Given the description of an element on the screen output the (x, y) to click on. 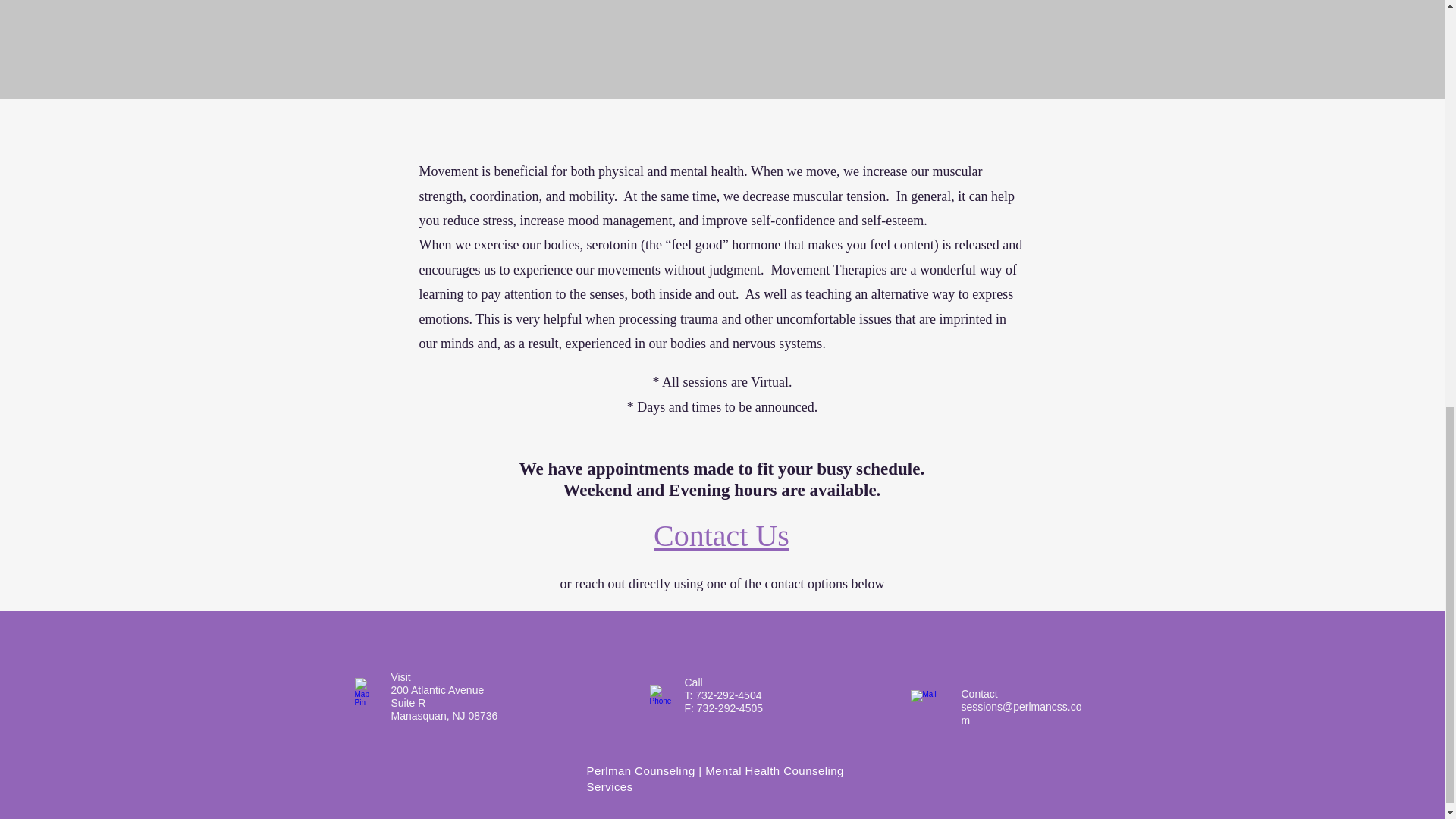
Mail (929, 701)
Contact Us (721, 535)
